Given the description of an element on the screen output the (x, y) to click on. 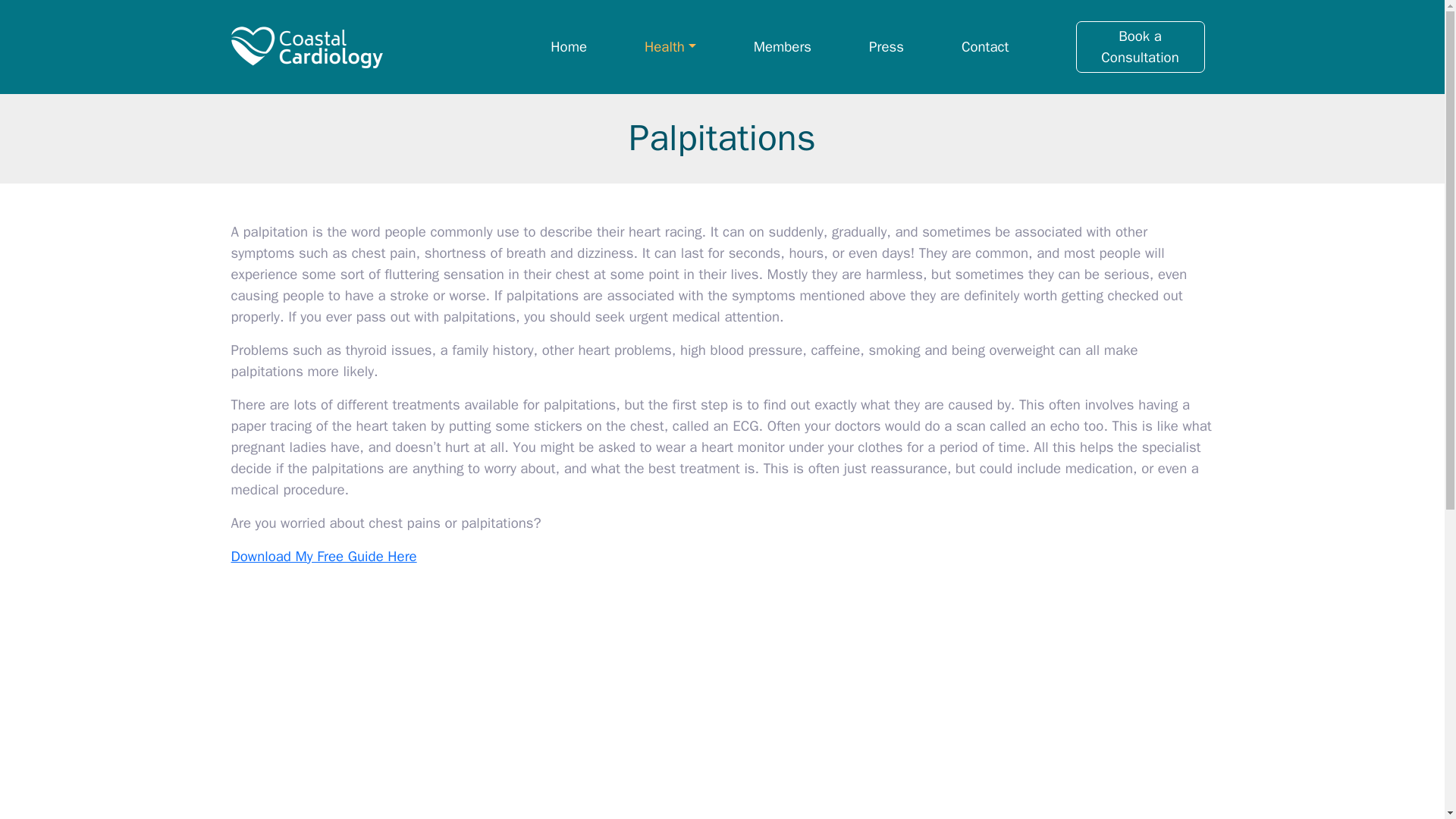
Members (782, 46)
Press (886, 46)
Contact (984, 46)
Download My Free Guide Here (323, 556)
Book a Consultation (1139, 46)
Home (568, 46)
Health (670, 46)
